Given the description of an element on the screen output the (x, y) to click on. 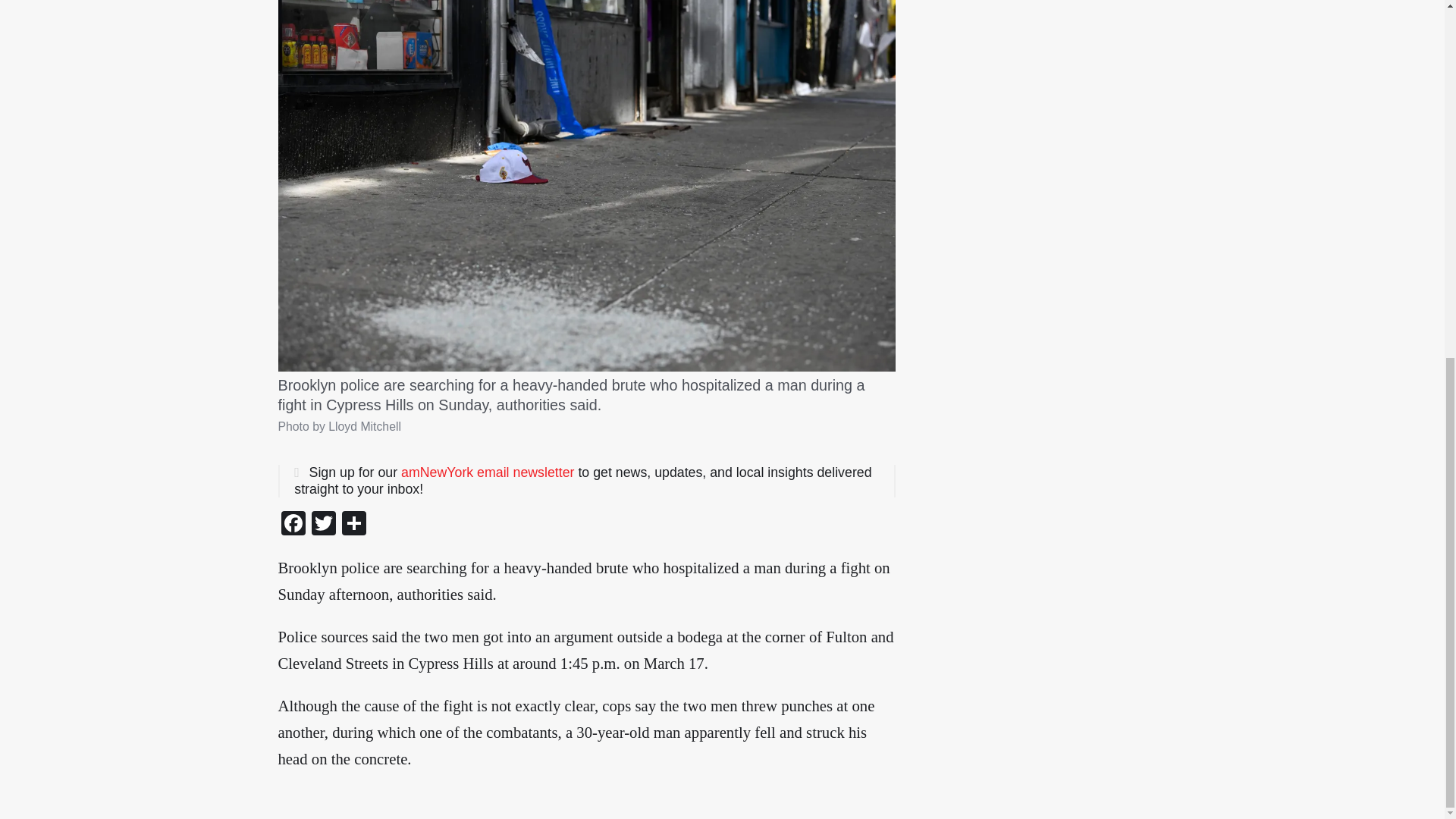
Facebook (292, 524)
Twitter (322, 524)
